Given the description of an element on the screen output the (x, y) to click on. 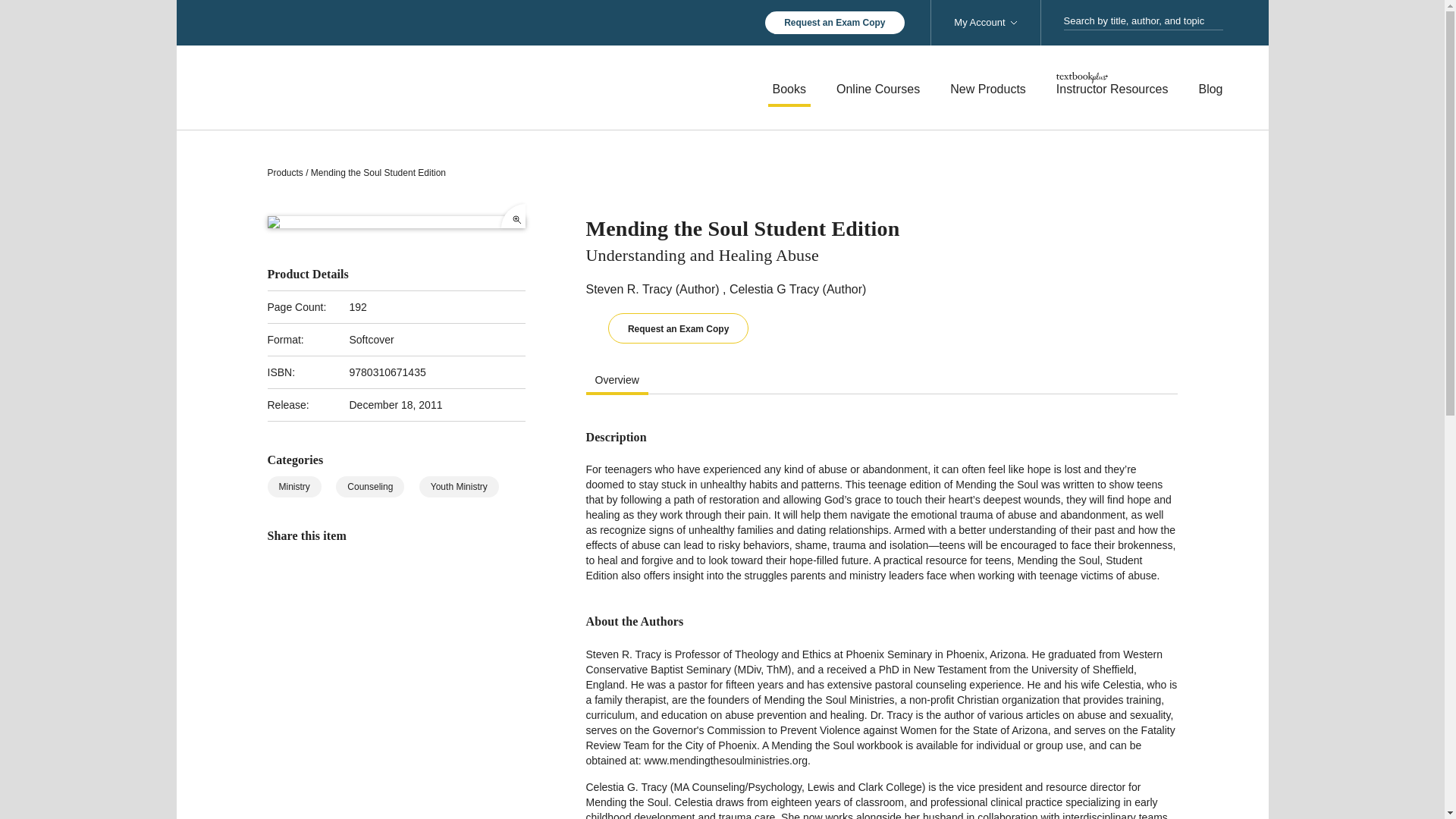
Books (789, 89)
Zondervan Academic (373, 86)
Zondervan (373, 86)
Search (1217, 20)
Request an Exam Copy (834, 22)
Request an Exam Copy (834, 22)
Online Courses (877, 89)
Books (789, 89)
